Given the description of an element on the screen output the (x, y) to click on. 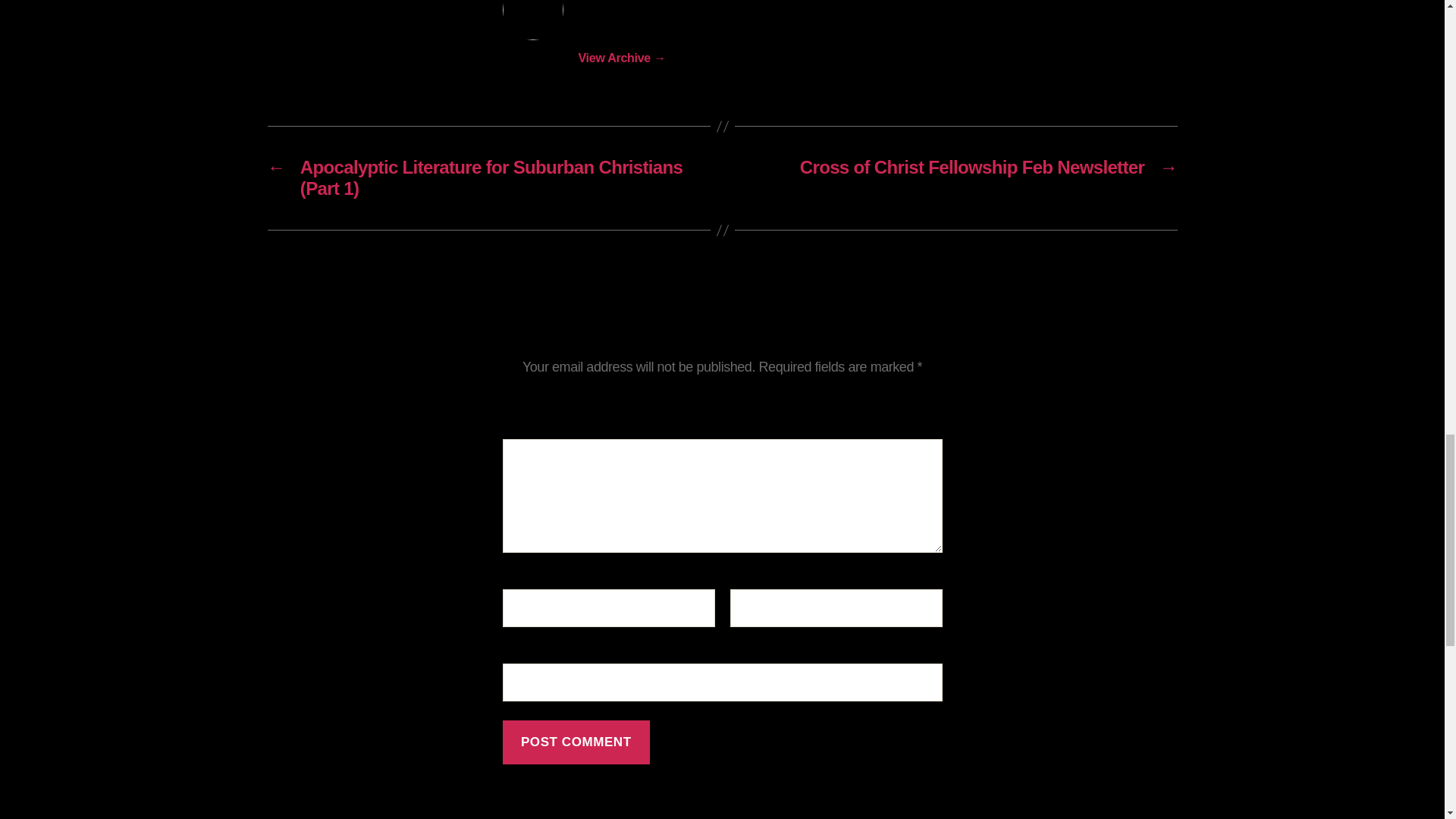
Post Comment (575, 742)
Post Comment (575, 742)
